Given the description of an element on the screen output the (x, y) to click on. 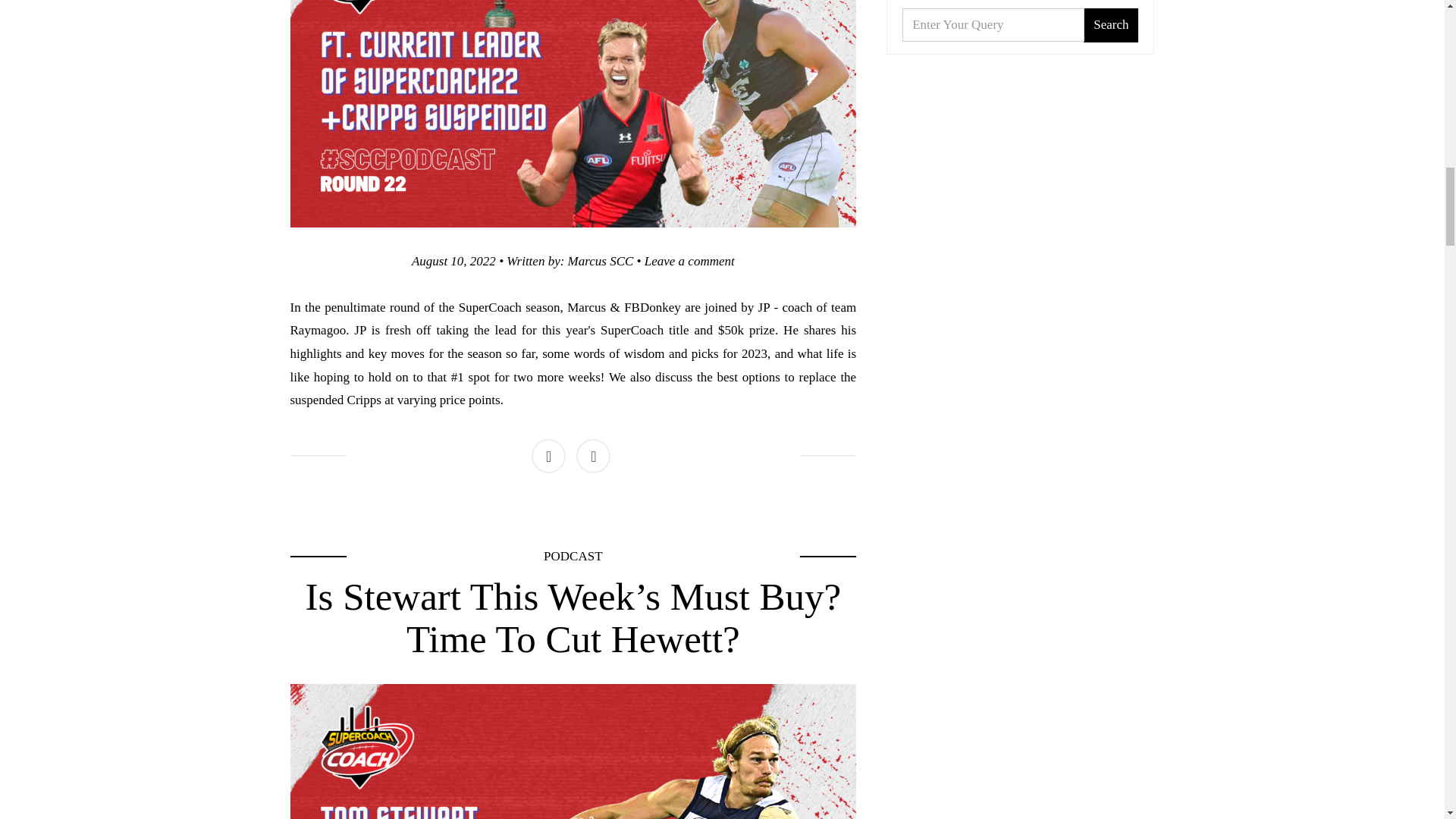
Search for: (993, 24)
Share on Twitter (454, 260)
PODCAST (593, 455)
Share on Facebook (572, 555)
Leave a comment (548, 455)
Written by: Marcus SCC (690, 260)
